Given the description of an element on the screen output the (x, y) to click on. 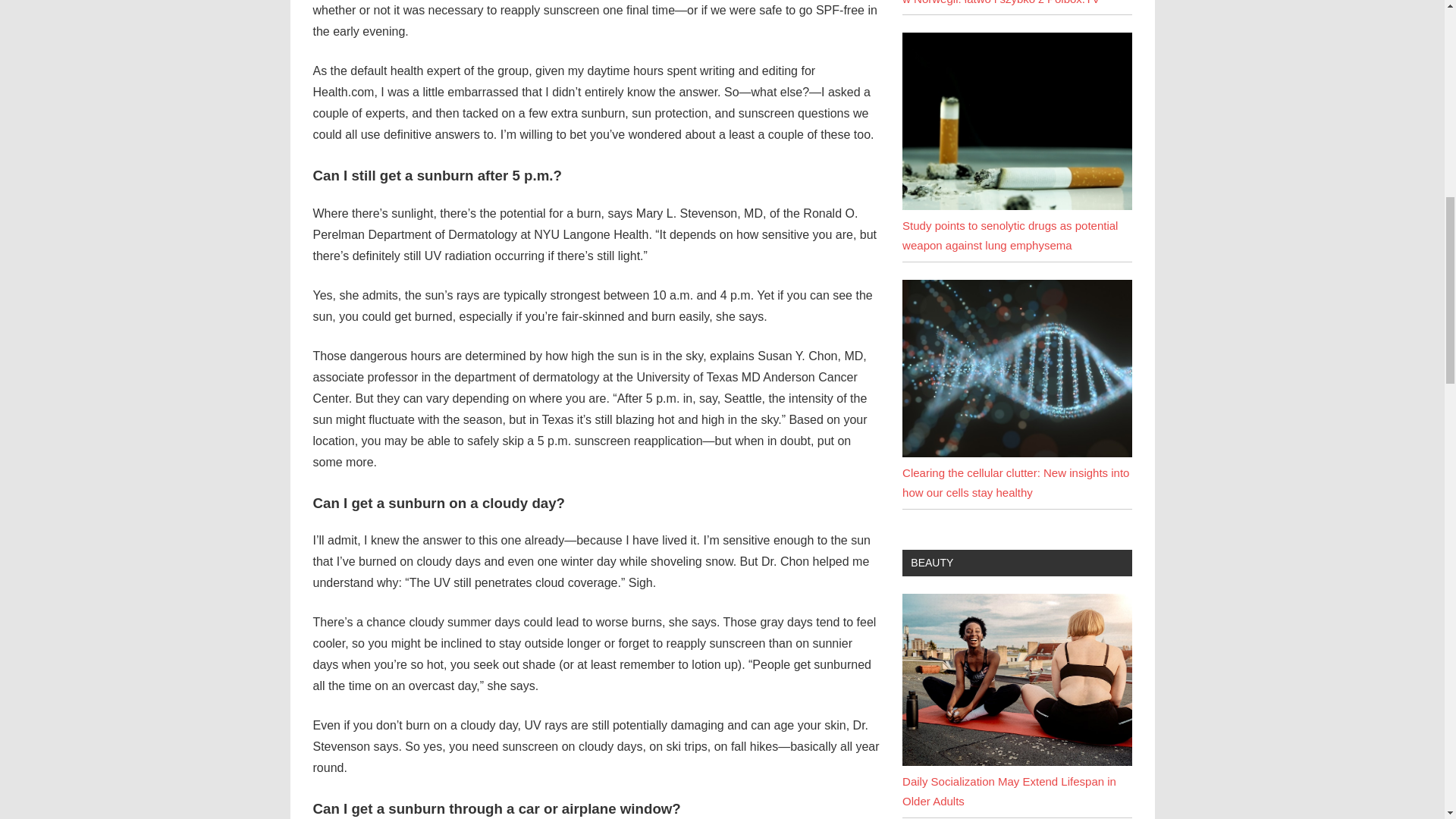
Daily Socialization May Extend Lifespan in Older Adults (1009, 790)
Daily Socialization May Extend Lifespan in Older Adults (1016, 761)
Daily Socialization May Extend Lifespan in Older Adults (1016, 679)
